Given the description of an element on the screen output the (x, y) to click on. 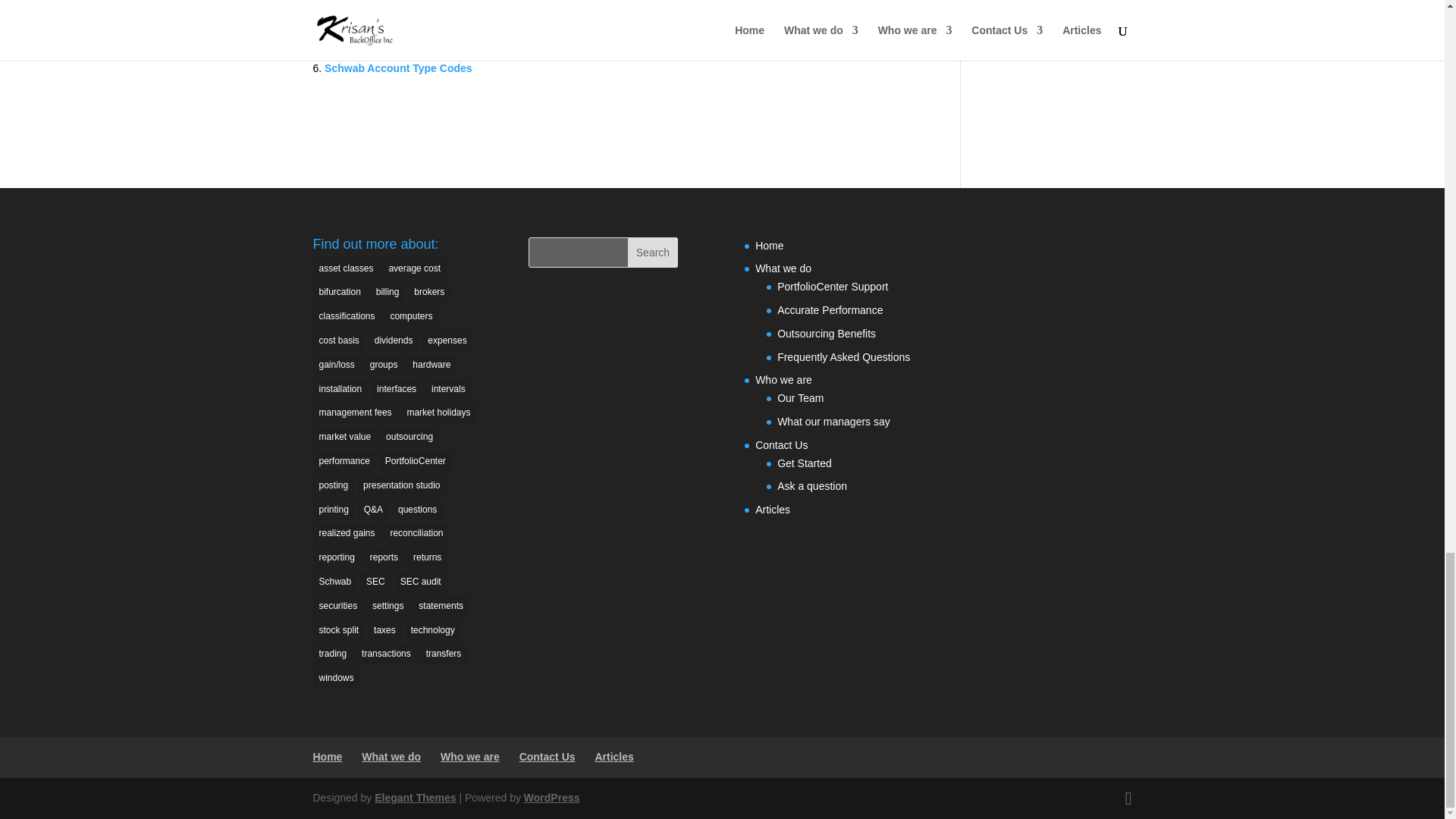
Outsourcing a necessity for new advisors (429, 9)
Premium WordPress Themes (414, 797)
asset classes (345, 269)
average cost (413, 269)
Schwab Account Type Codes (397, 68)
Outsourcing a necessity for new advisors (429, 9)
Outsourcing PortfolioCenter lets you focus on growth (460, 28)
Outsourcing PortfolioCenter lets you focus on growth (460, 28)
Schwab Account Type Codes (397, 68)
